Given the description of an element on the screen output the (x, y) to click on. 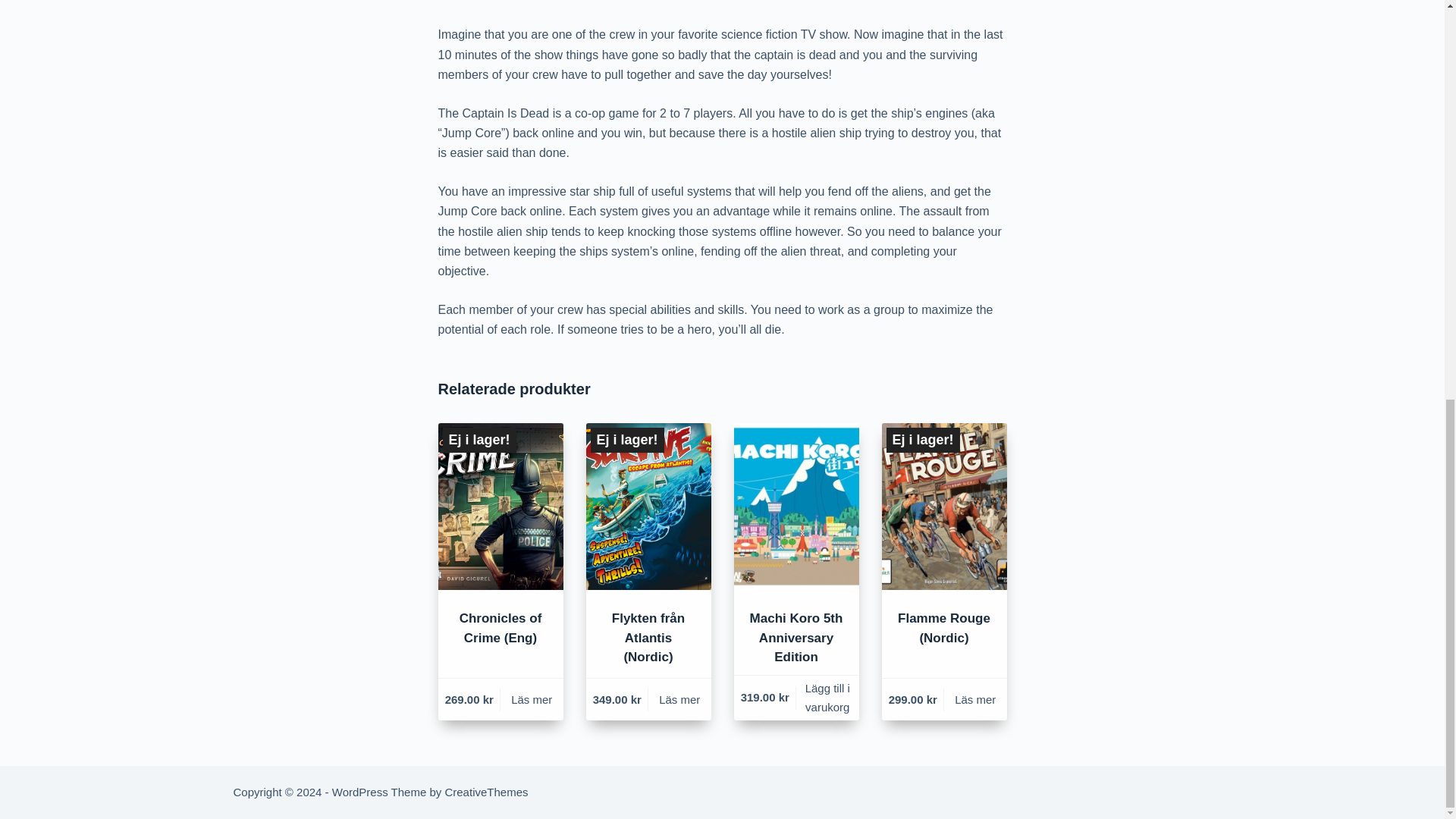
atlantis (647, 506)
machi koro (796, 506)
flamme1 (943, 506)
chronicles (500, 506)
